Given the description of an element on the screen output the (x, y) to click on. 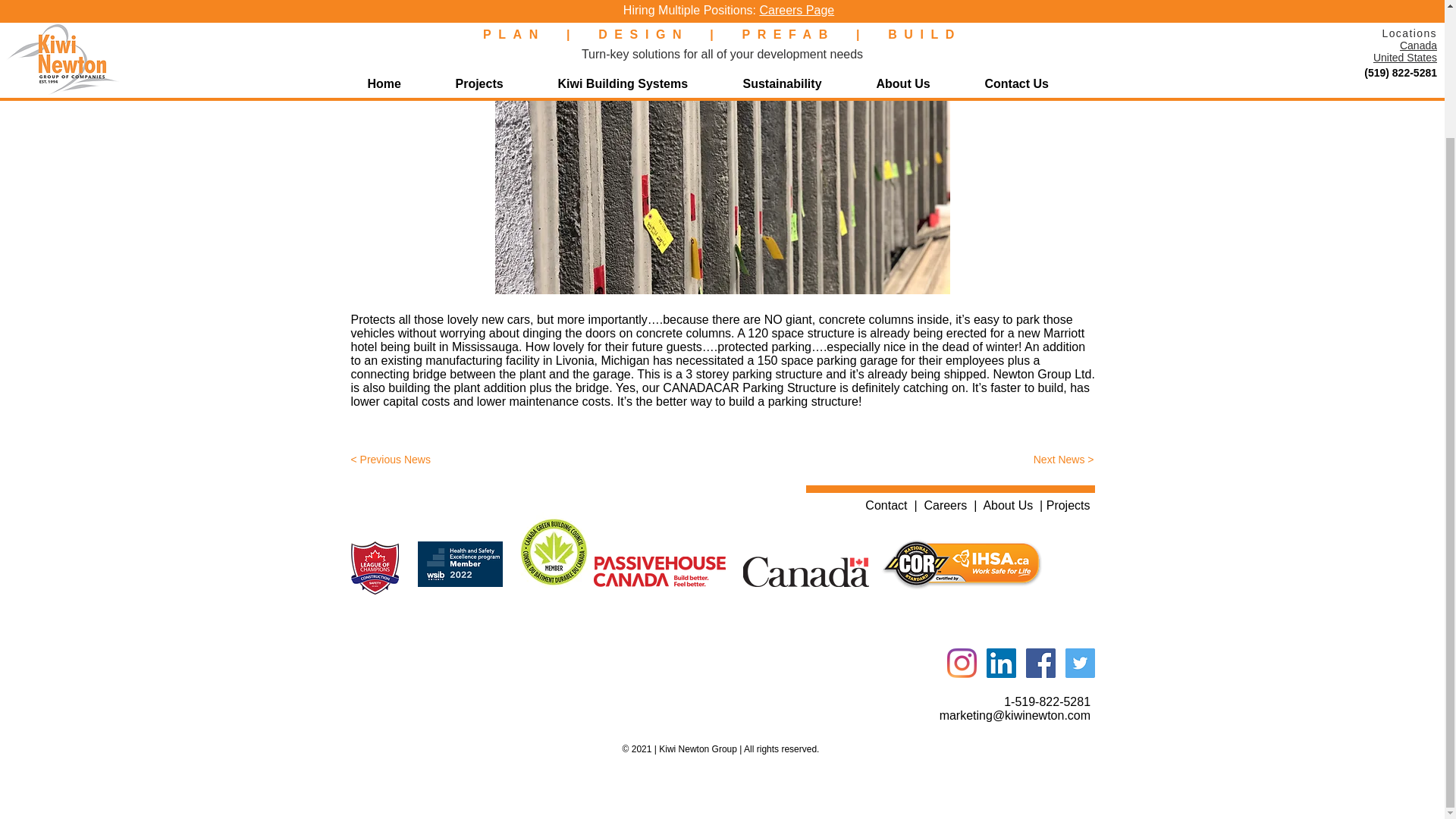
logo-en.png (658, 571)
About Us (1007, 504)
Projects (1068, 504)
HSEPBadgeNavyMember202007116x4.png (462, 564)
Contact (885, 504)
Careers (944, 504)
